Given the description of an element on the screen output the (x, y) to click on. 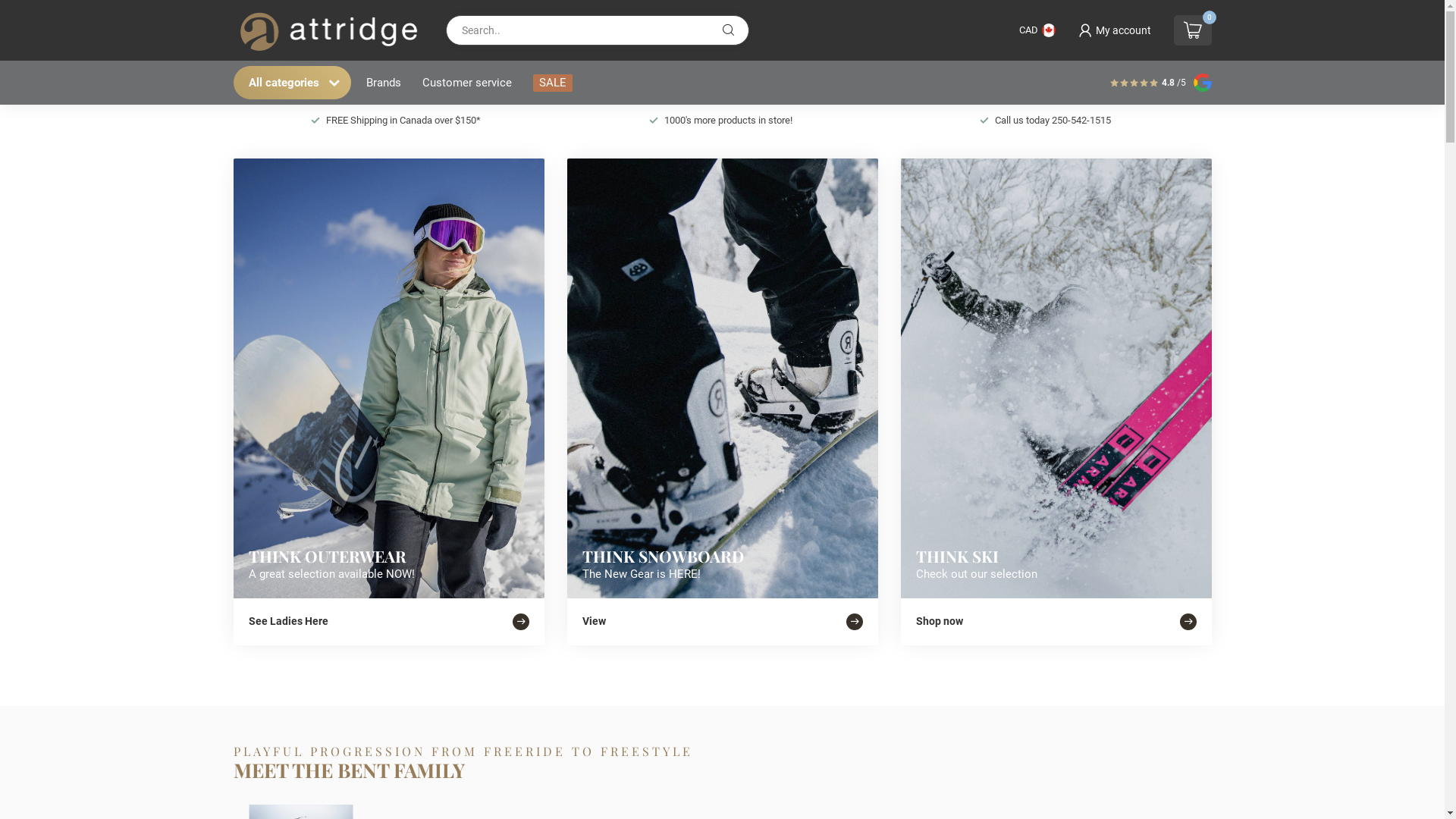
SALE Element type: text (551, 82)
1 Element type: text (1060, 218)
Customer service Element type: text (466, 82)
4.8 /5 Element type: text (1173, 82)
Brands Element type: text (382, 82)
THINK SKI
Check out our selection
Shop now Element type: text (1055, 401)
THINK SNOWBOARD
The New Gear is HERE!
View Element type: text (722, 401)
0 Element type: text (1192, 30)
